Given the description of an element on the screen output the (x, y) to click on. 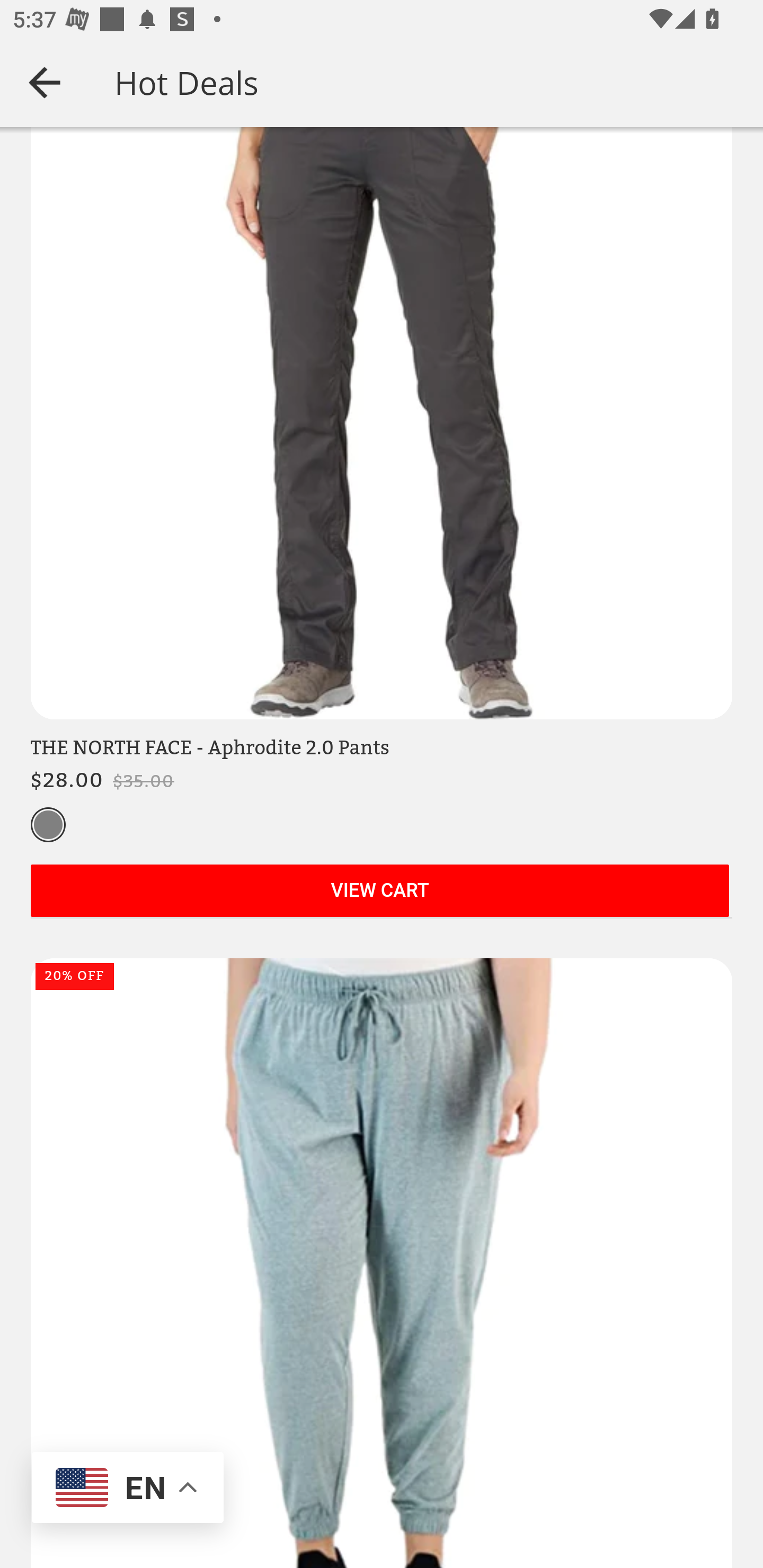
Navigate up (44, 82)
Grey (48, 827)
VIEW CART (379, 892)
